Given the description of an element on the screen output the (x, y) to click on. 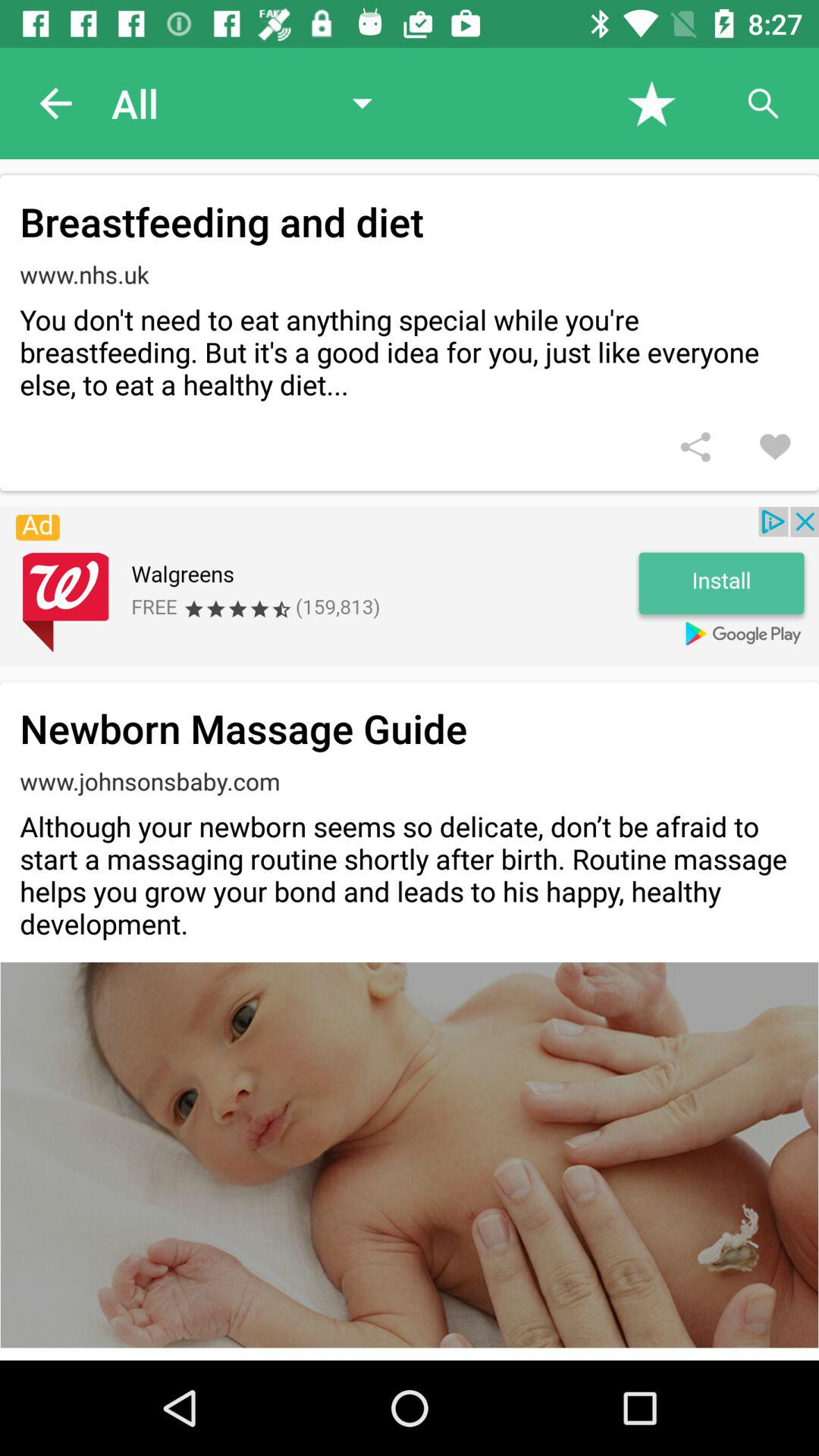
search app (763, 103)
